Given the description of an element on the screen output the (x, y) to click on. 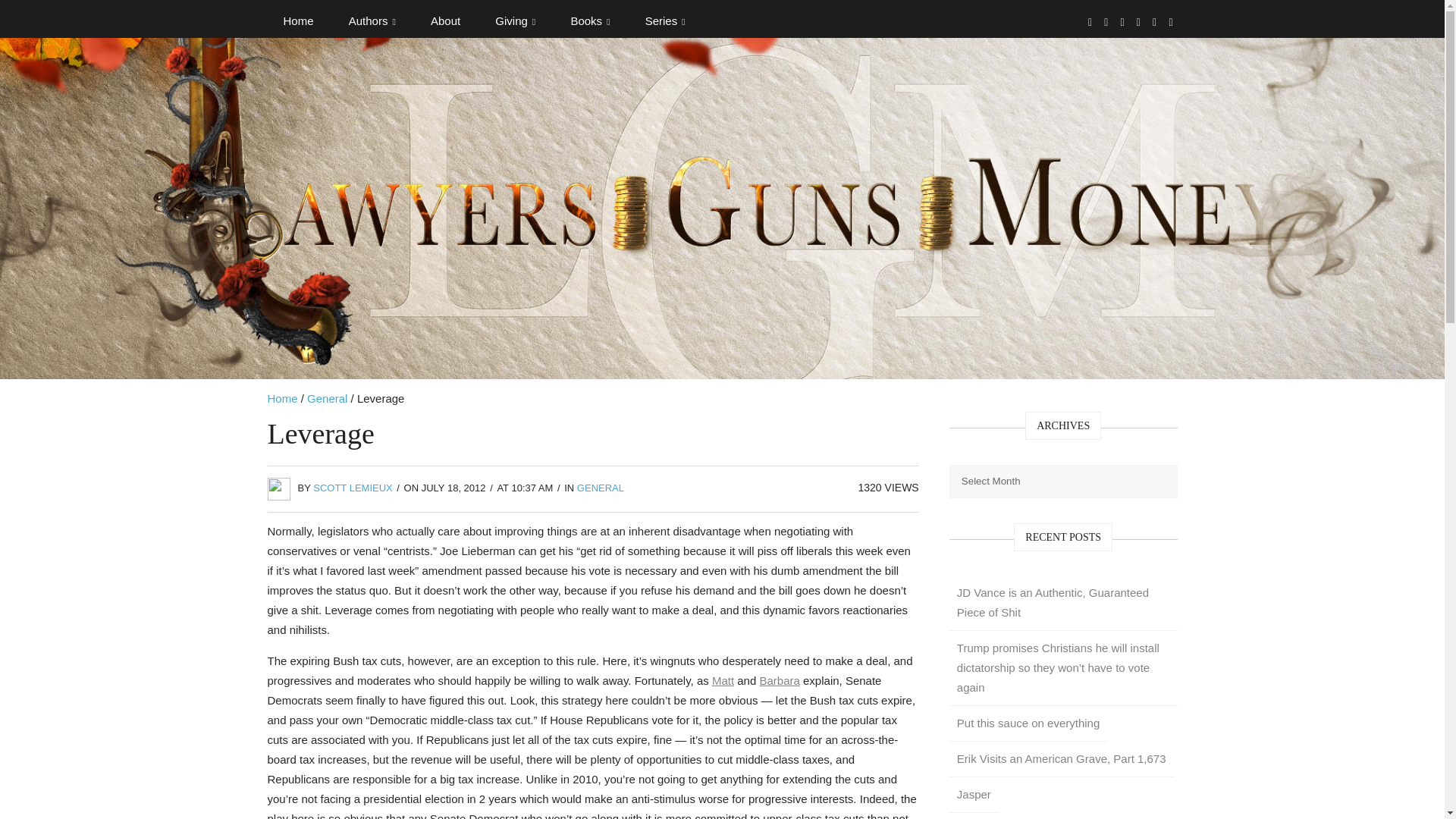
Home (297, 21)
Giving (515, 21)
Books (590, 21)
About (445, 21)
Authors (372, 21)
Posts by Scott Lemieux (353, 487)
